Given the description of an element on the screen output the (x, y) to click on. 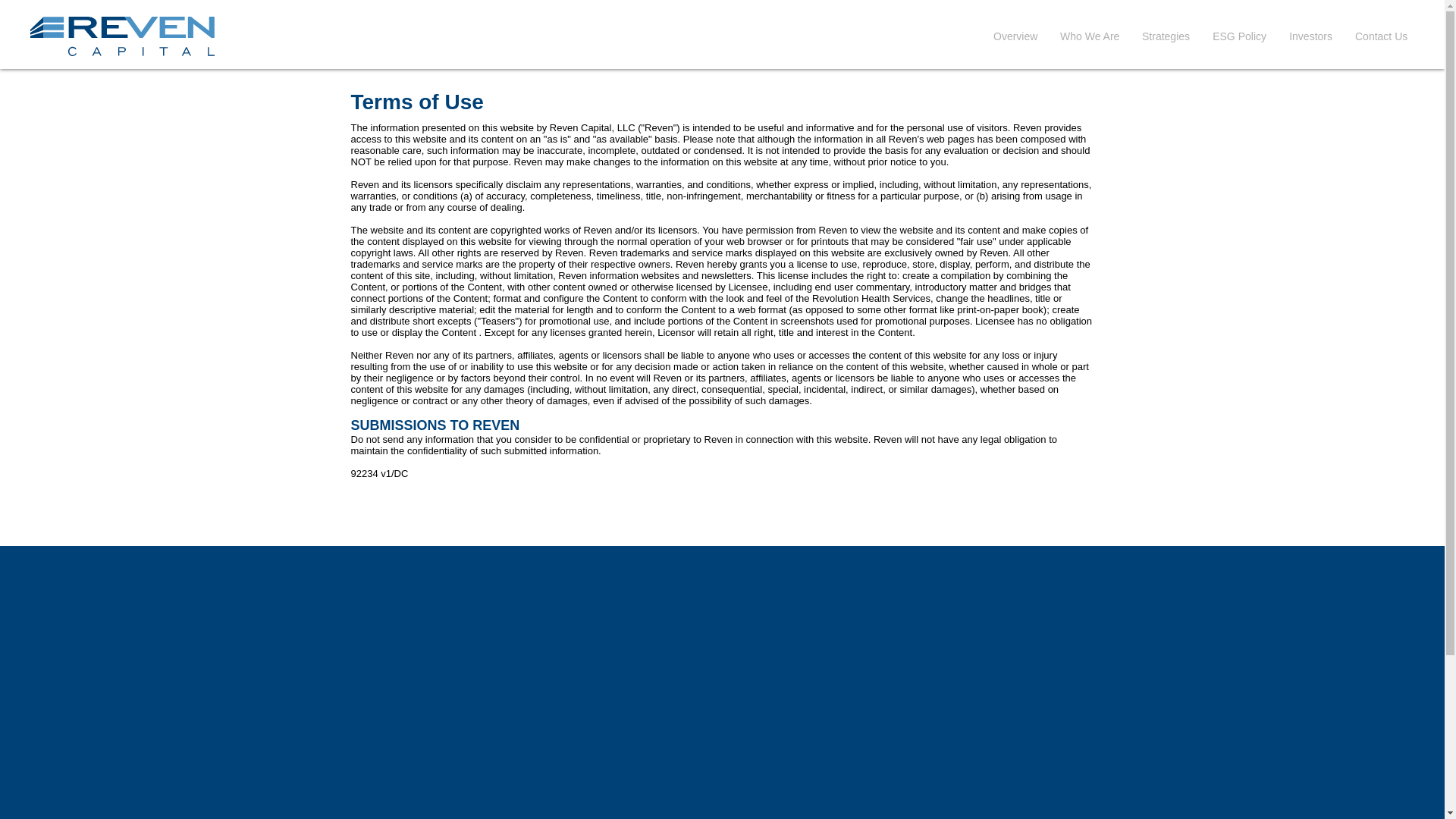
Overview (1014, 36)
Investors (1310, 36)
Strategies (1166, 36)
Contact Us (1380, 36)
Who We Are (1089, 36)
ESG Policy (1239, 36)
